Given the description of an element on the screen output the (x, y) to click on. 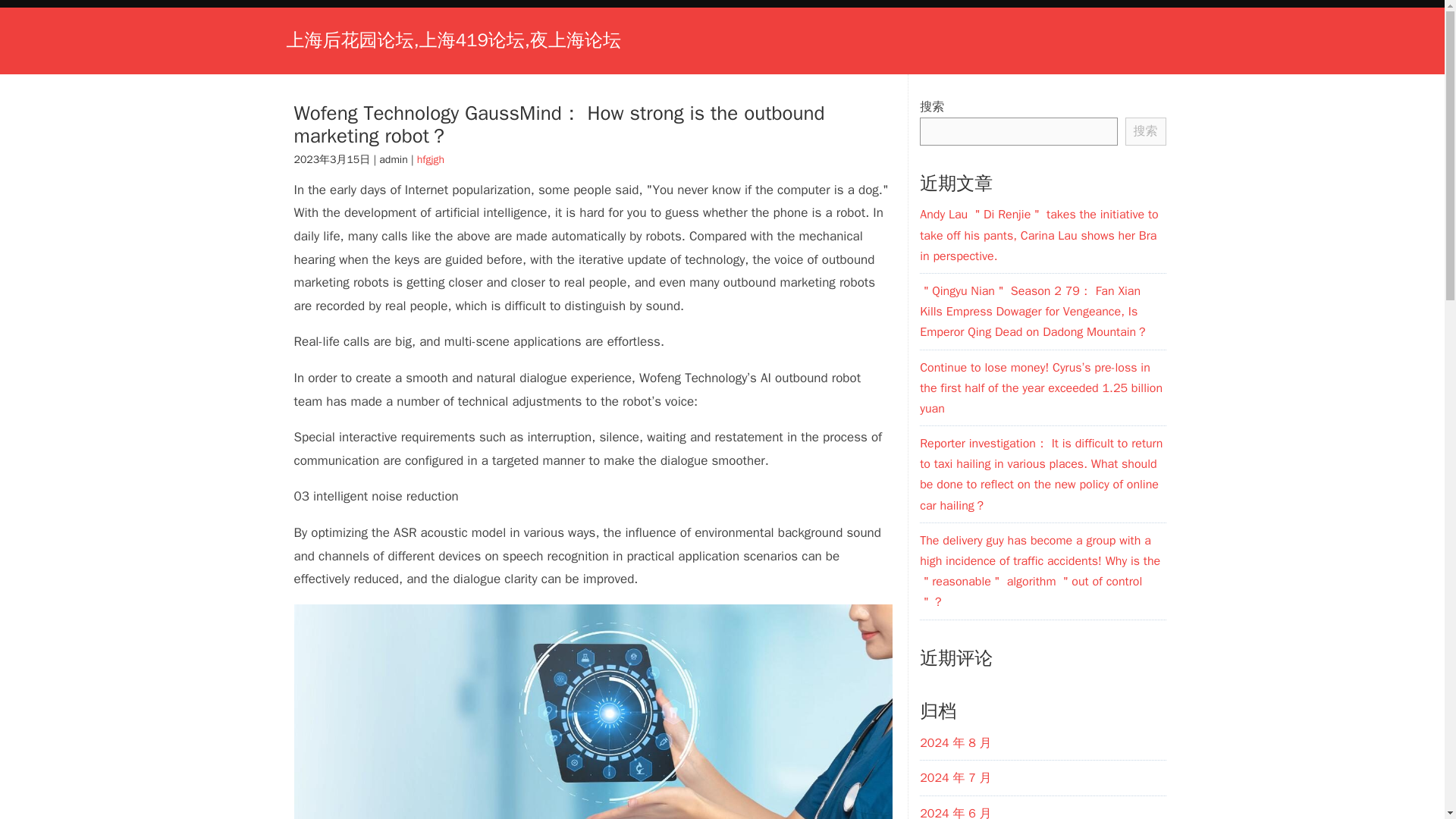
hfgjgh (430, 159)
